Given the description of an element on the screen output the (x, y) to click on. 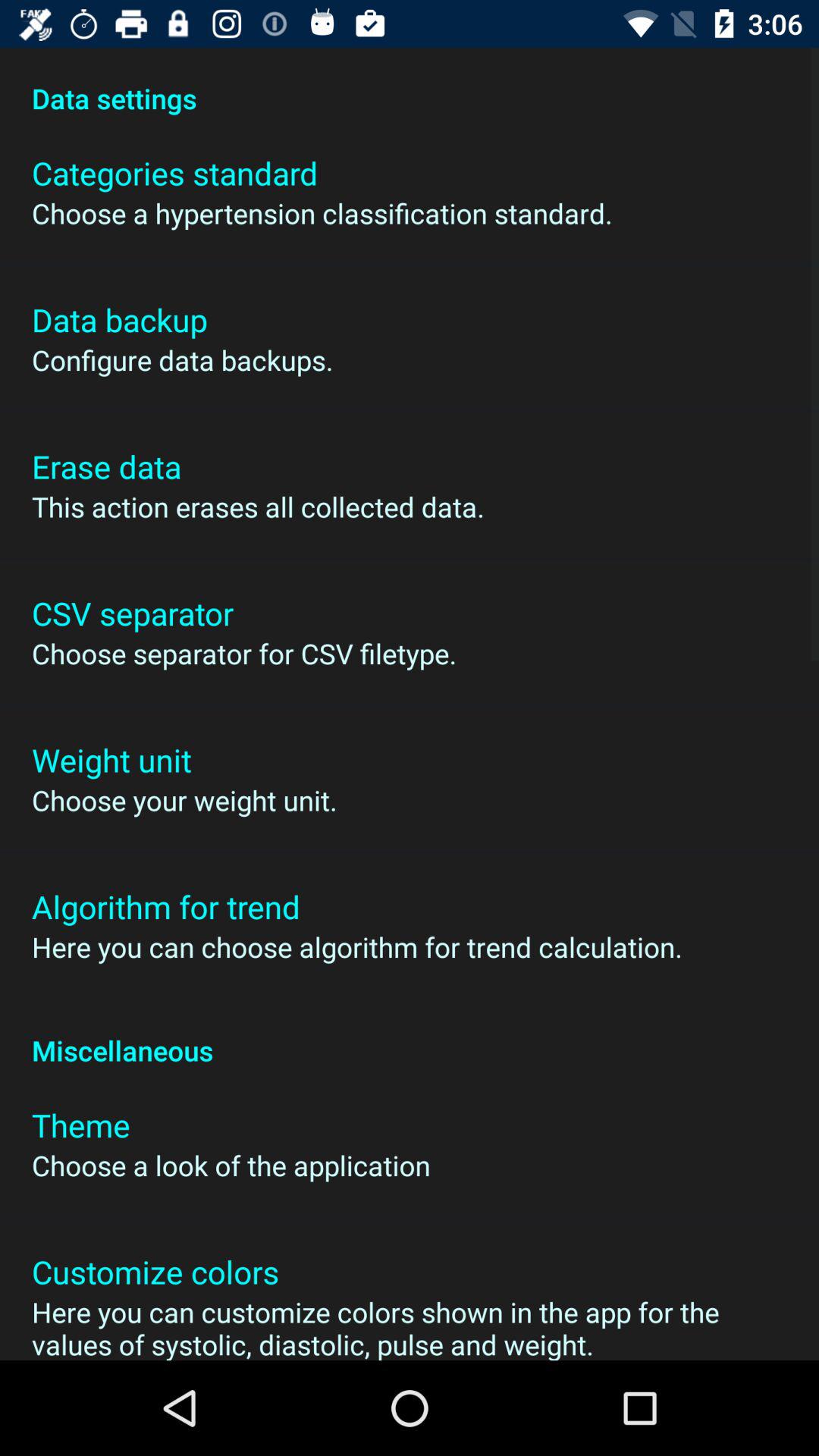
turn on app above the this action erases item (106, 465)
